Given the description of an element on the screen output the (x, y) to click on. 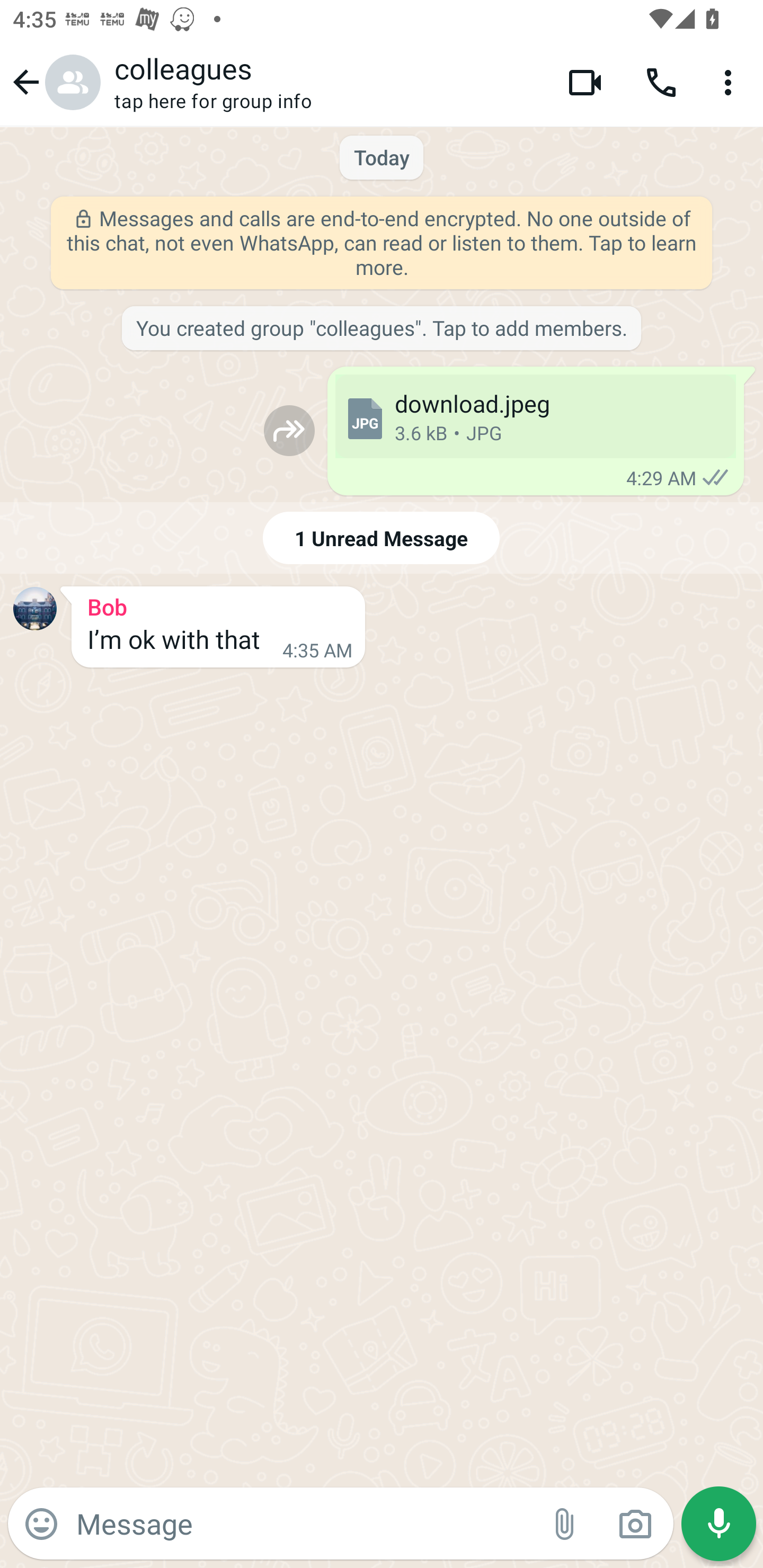
colleagues tap here for group info (327, 82)
Navigate up (54, 82)
Video call (585, 81)
Voice call (661, 81)
More options (731, 81)
download.jpeg 3.6 kB • JPG (535, 415)
Forward to… (288, 430)
Profile picture for Bob (34, 608)
Bob (217, 604)
Emoji (41, 1523)
Attach (565, 1523)
Camera (634, 1523)
Message (303, 1523)
